Given the description of an element on the screen output the (x, y) to click on. 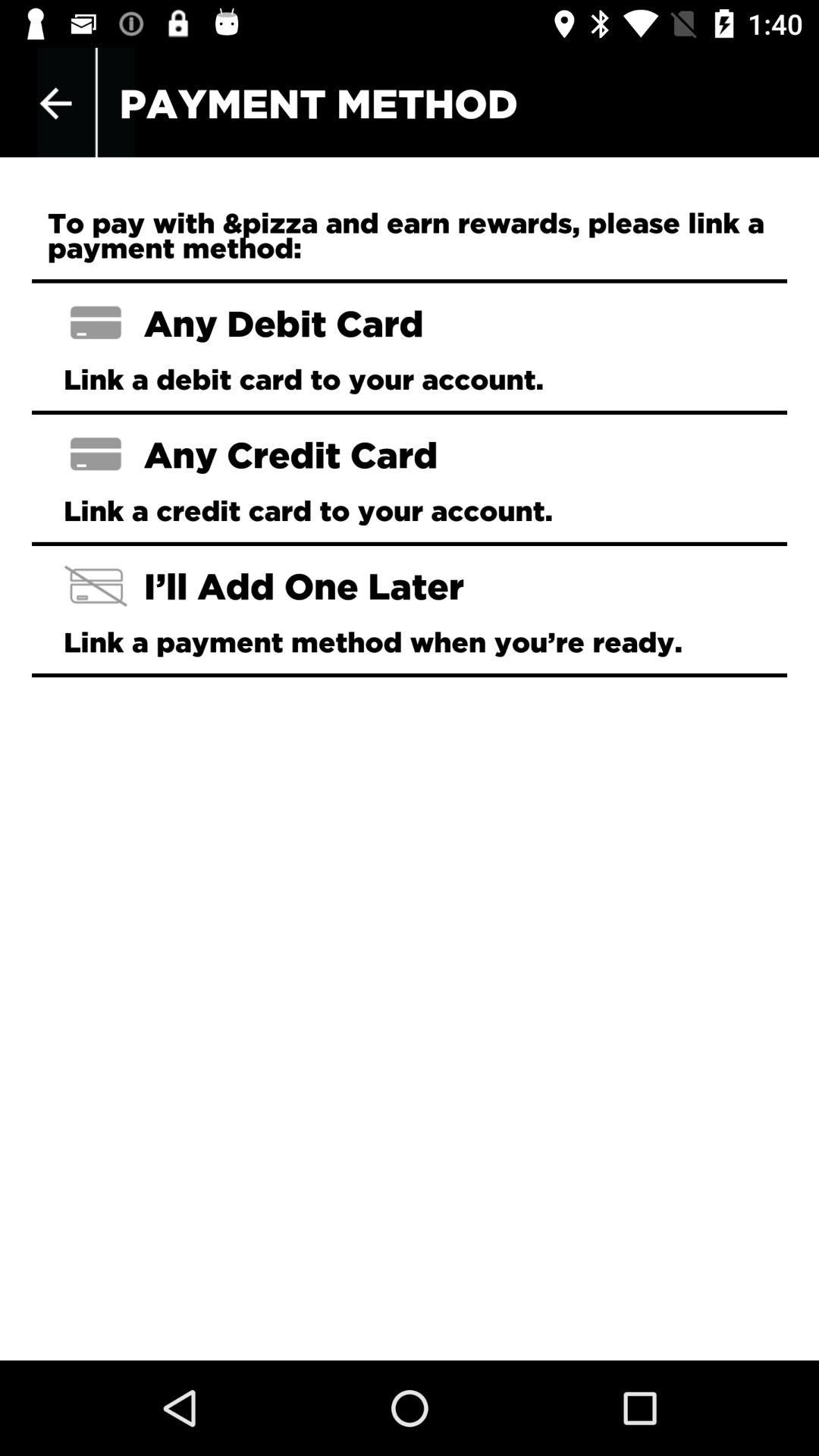
press app next to payment method icon (55, 103)
